Given the description of an element on the screen output the (x, y) to click on. 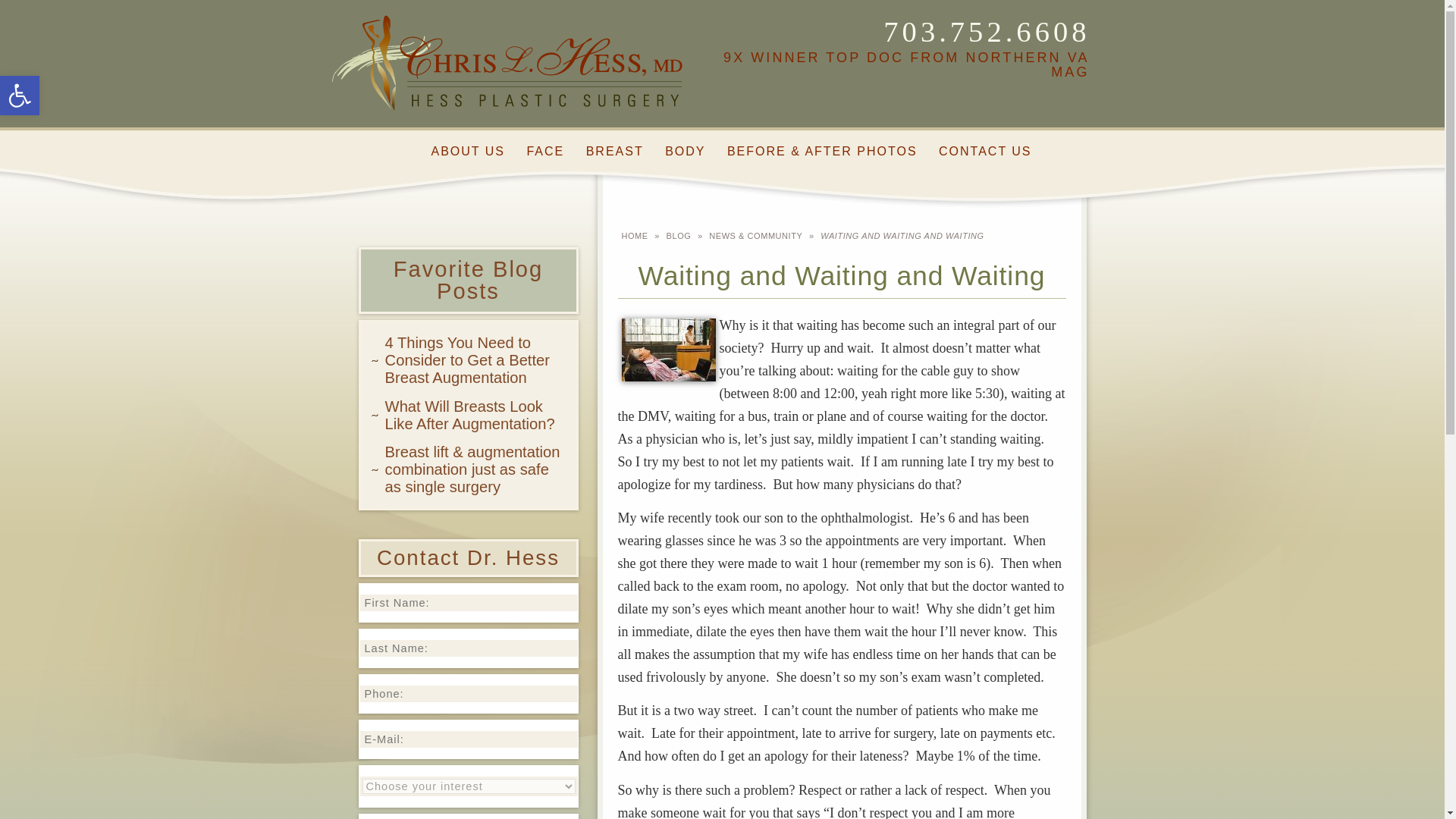
ABOUT US (467, 151)
FACE (545, 151)
703.752.6608 (986, 31)
Accessibility Tools (19, 95)
9X WINNER TOP DOC FROM NORTHERN VA MAG (906, 64)
What Will Breasts Look Like After Augmentation? (19, 95)
Accessibility Tools (469, 415)
BLOG (19, 95)
HOME (678, 235)
